Given the description of an element on the screen output the (x, y) to click on. 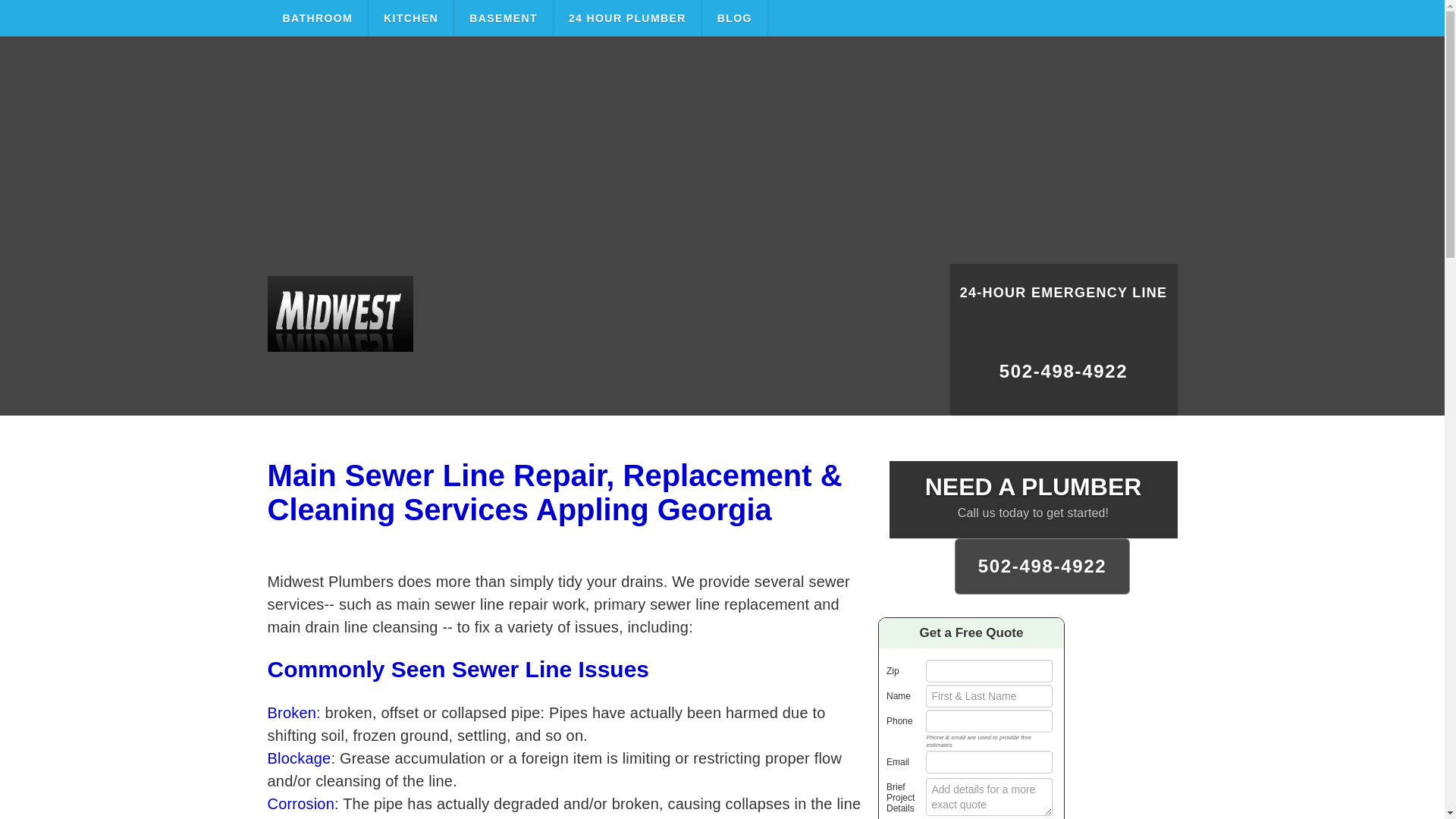
BATHROOM (317, 18)
BLOG (734, 18)
BASEMENT (503, 18)
24 HOUR PLUMBER (627, 18)
KITCHEN (411, 18)
24-HOUR EMERGENCY LINE (1062, 301)
502-498-4922 (1043, 566)
502-498-4922 (1062, 377)
